Given the description of an element on the screen output the (x, y) to click on. 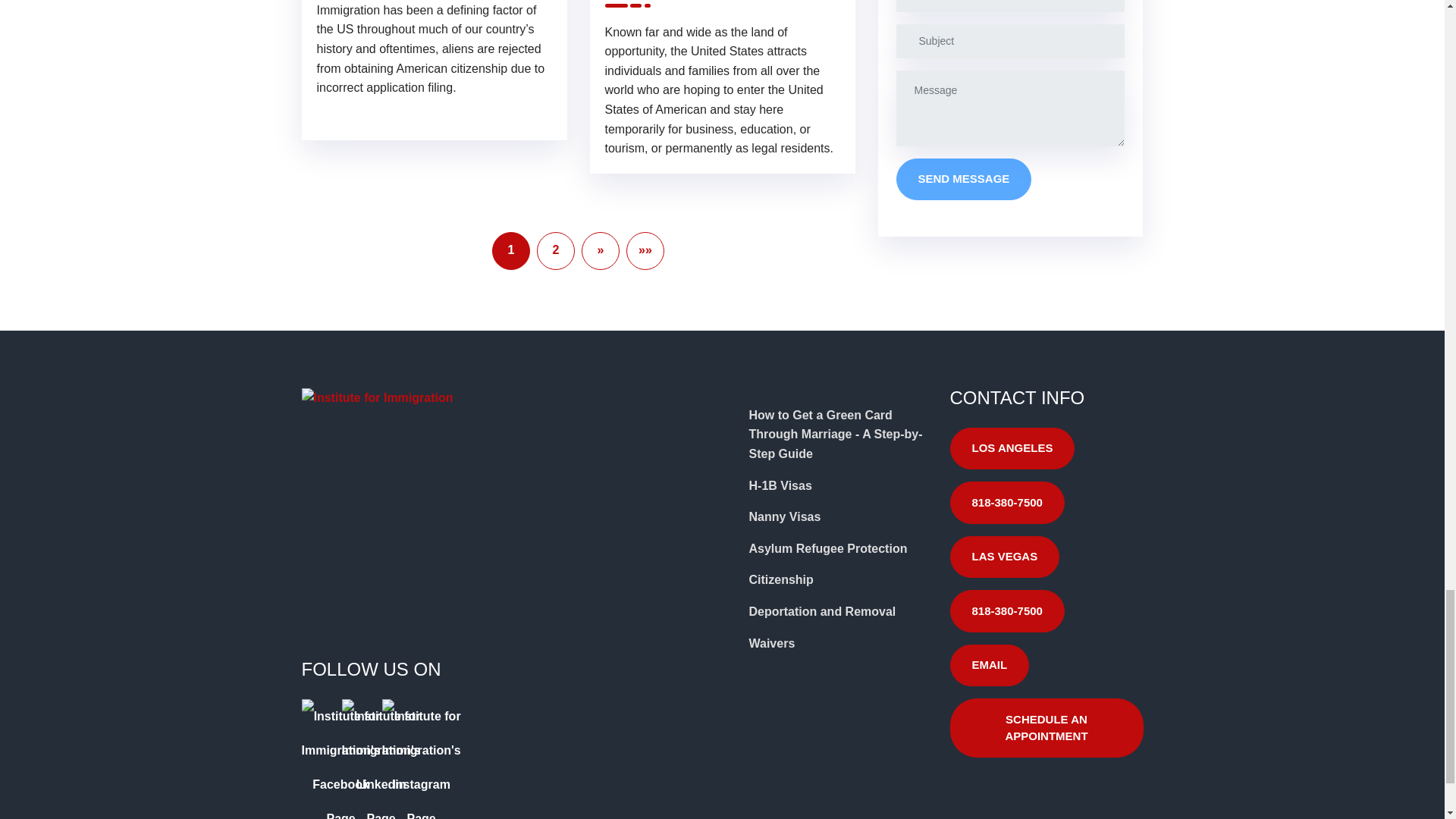
1 (510, 250)
2 (556, 250)
Encino Office - Institute For Immigration (453, 538)
